Given the description of an element on the screen output the (x, y) to click on. 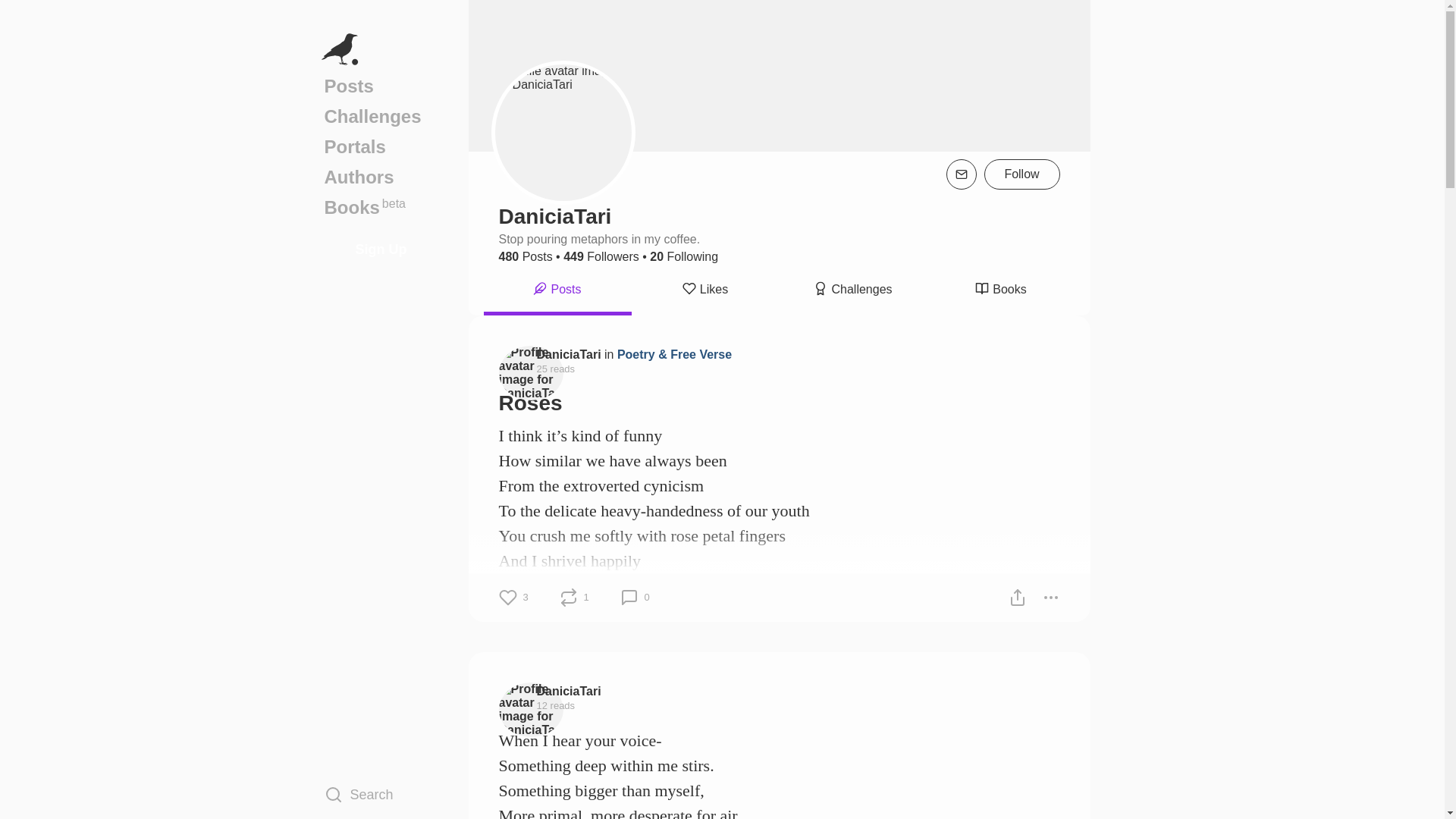
Search (381, 794)
Posts (557, 291)
Authors (381, 177)
DaniciaTari (569, 689)
480 Posts (526, 256)
DaniciaTari (569, 353)
Challenges (381, 116)
Posts (381, 86)
Likes (704, 291)
20 Following (683, 256)
Challenges (852, 291)
449 Followers (601, 256)
Books (1000, 291)
Portals (381, 146)
